Given the description of an element on the screen output the (x, y) to click on. 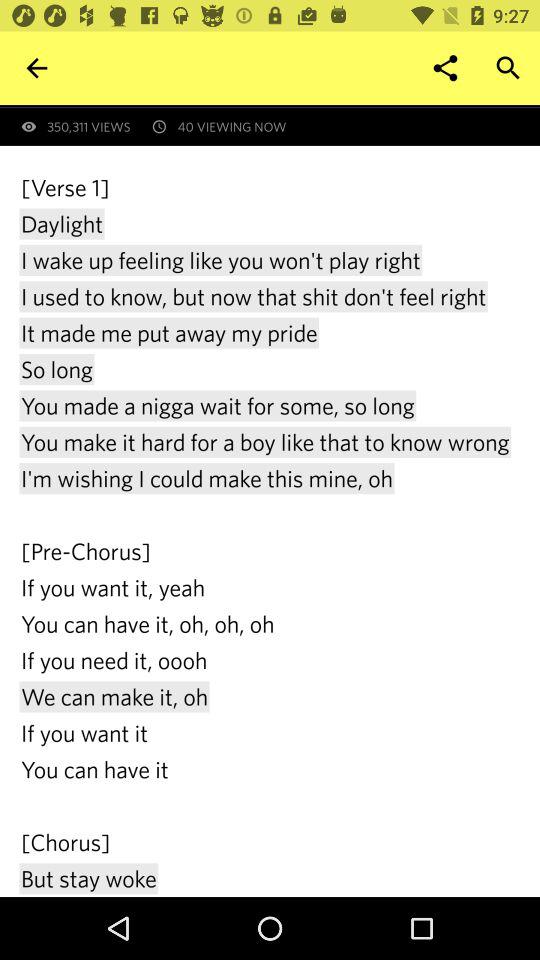
open item next to 350,311 views (444, 67)
